Given the description of an element on the screen output the (x, y) to click on. 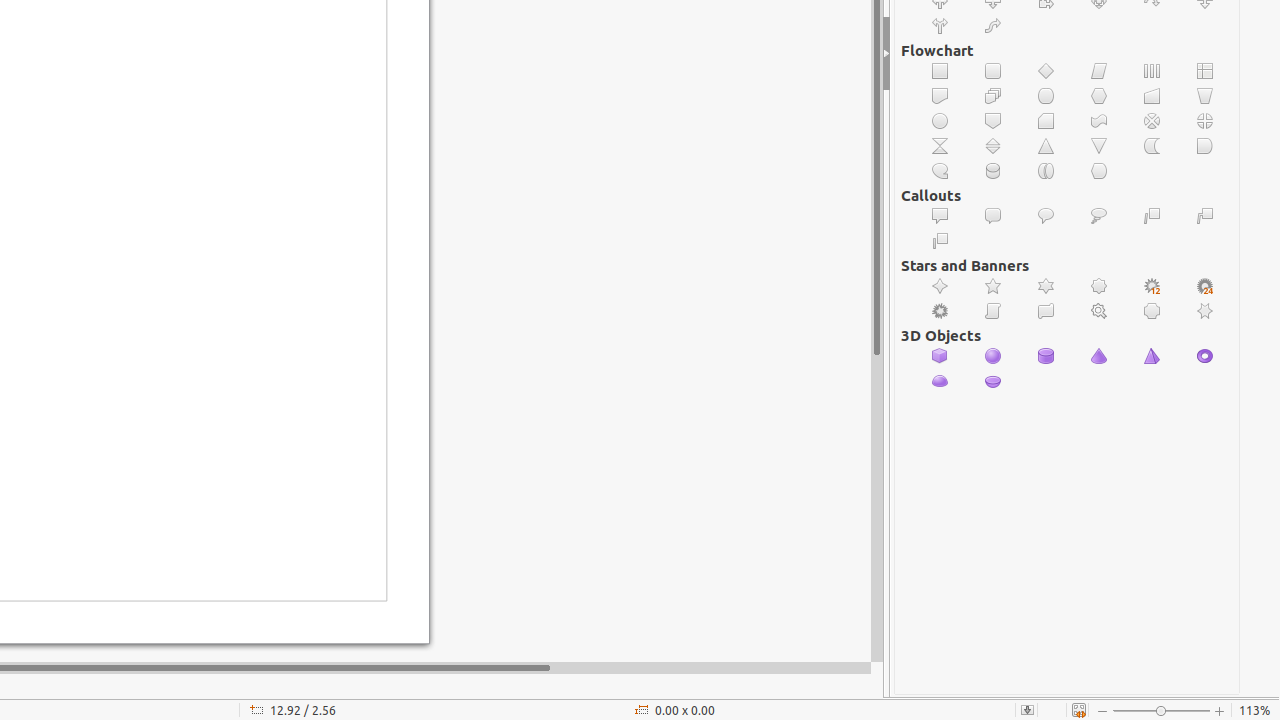
Flowchart: Delay Element type: list-item (1205, 146)
Doorplate Element type: list-item (1152, 311)
Round Callout Element type: list-item (1046, 216)
Horizontal Scroll Element type: list-item (1046, 311)
Flowchart: Magnetic Disc Element type: list-item (993, 171)
